Given the description of an element on the screen output the (x, y) to click on. 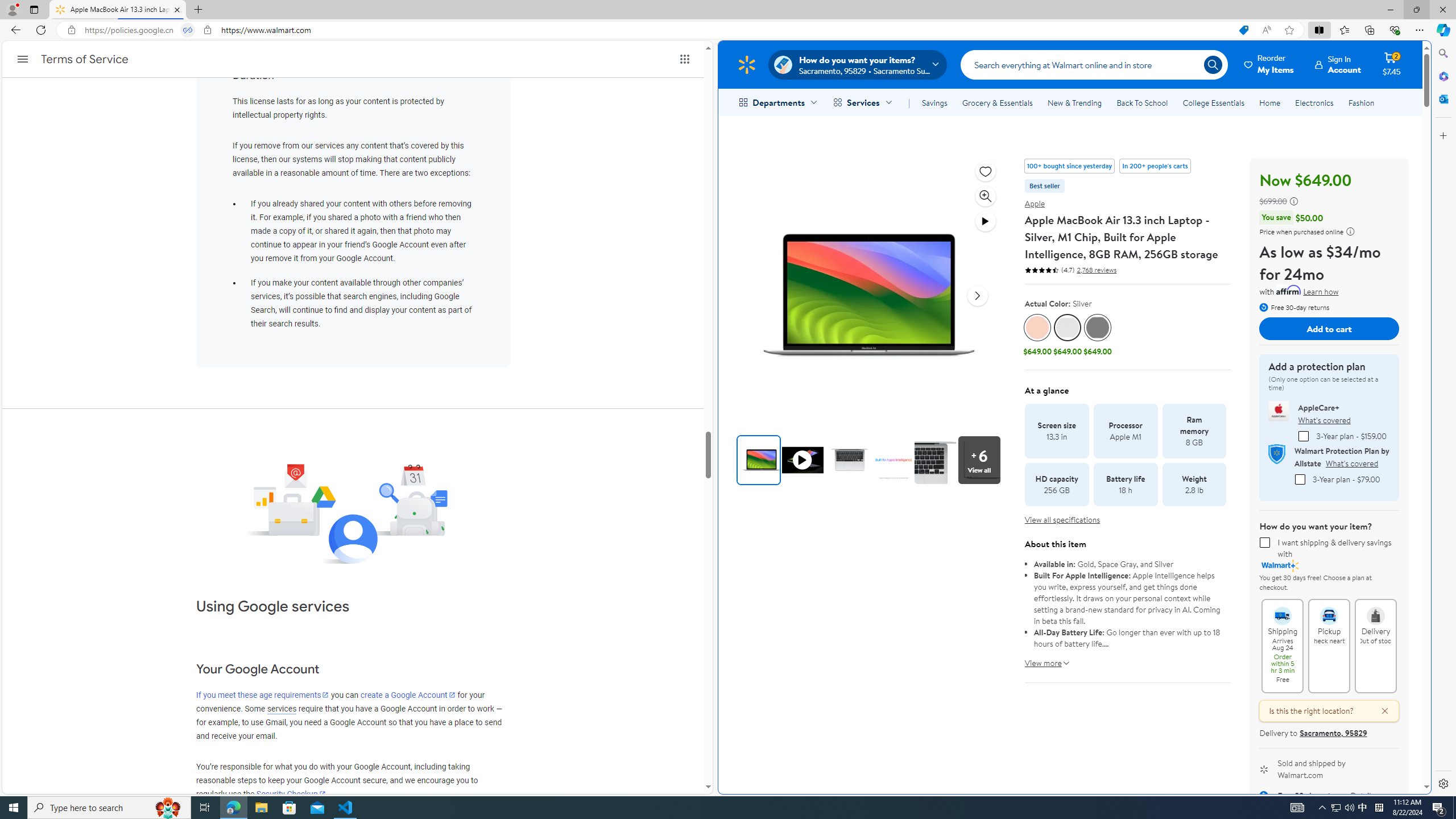
Affirm (1288, 289)
Back To School (1141, 102)
Walmart Homepage (746, 64)
3-Year plan - $79.00 (1299, 479)
next media item (977, 295)
View more, item details (1043, 658)
Zoom image modal (985, 195)
